Given the description of an element on the screen output the (x, y) to click on. 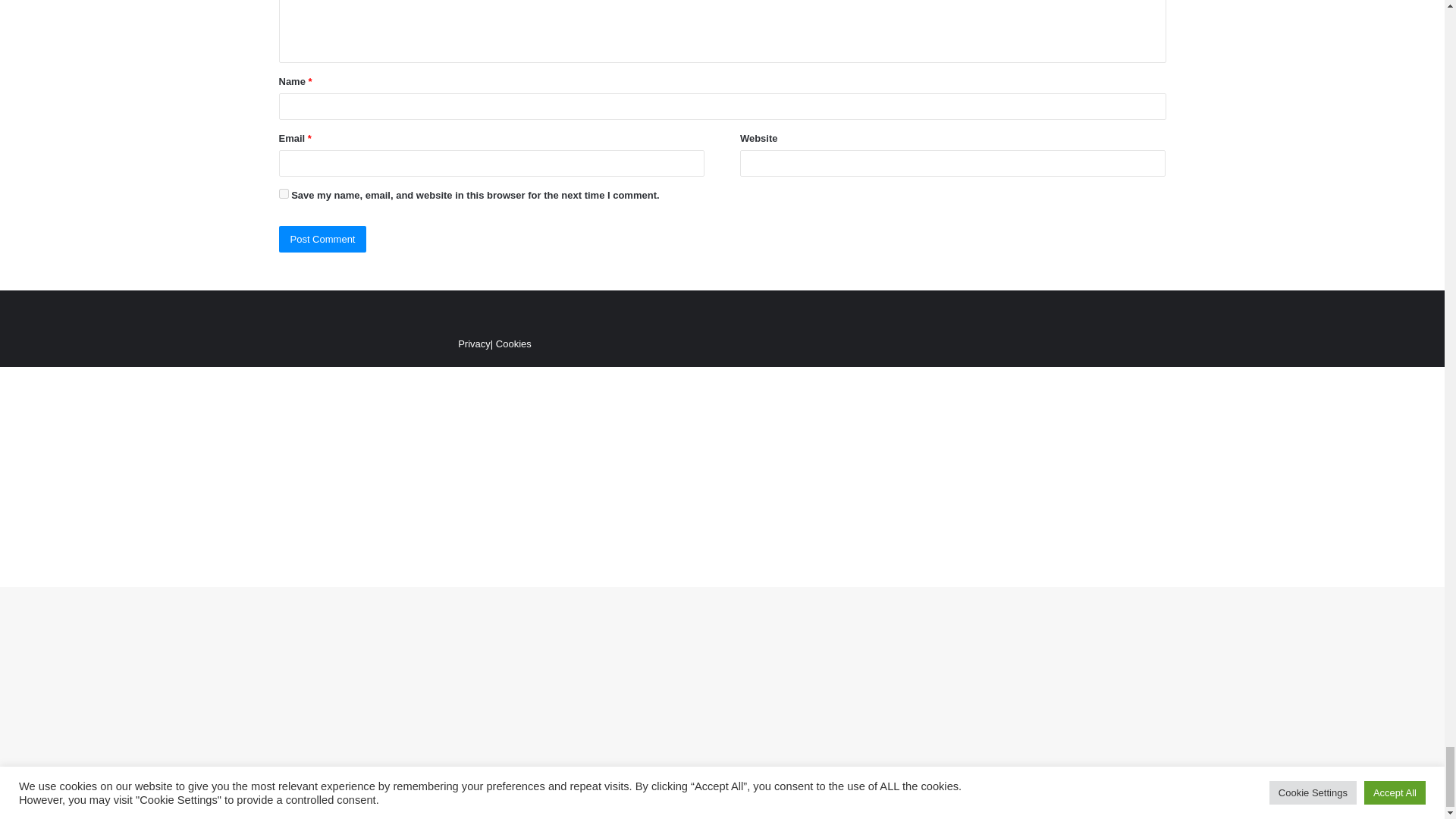
Post Comment (322, 239)
yes (283, 194)
